Given the description of an element on the screen output the (x, y) to click on. 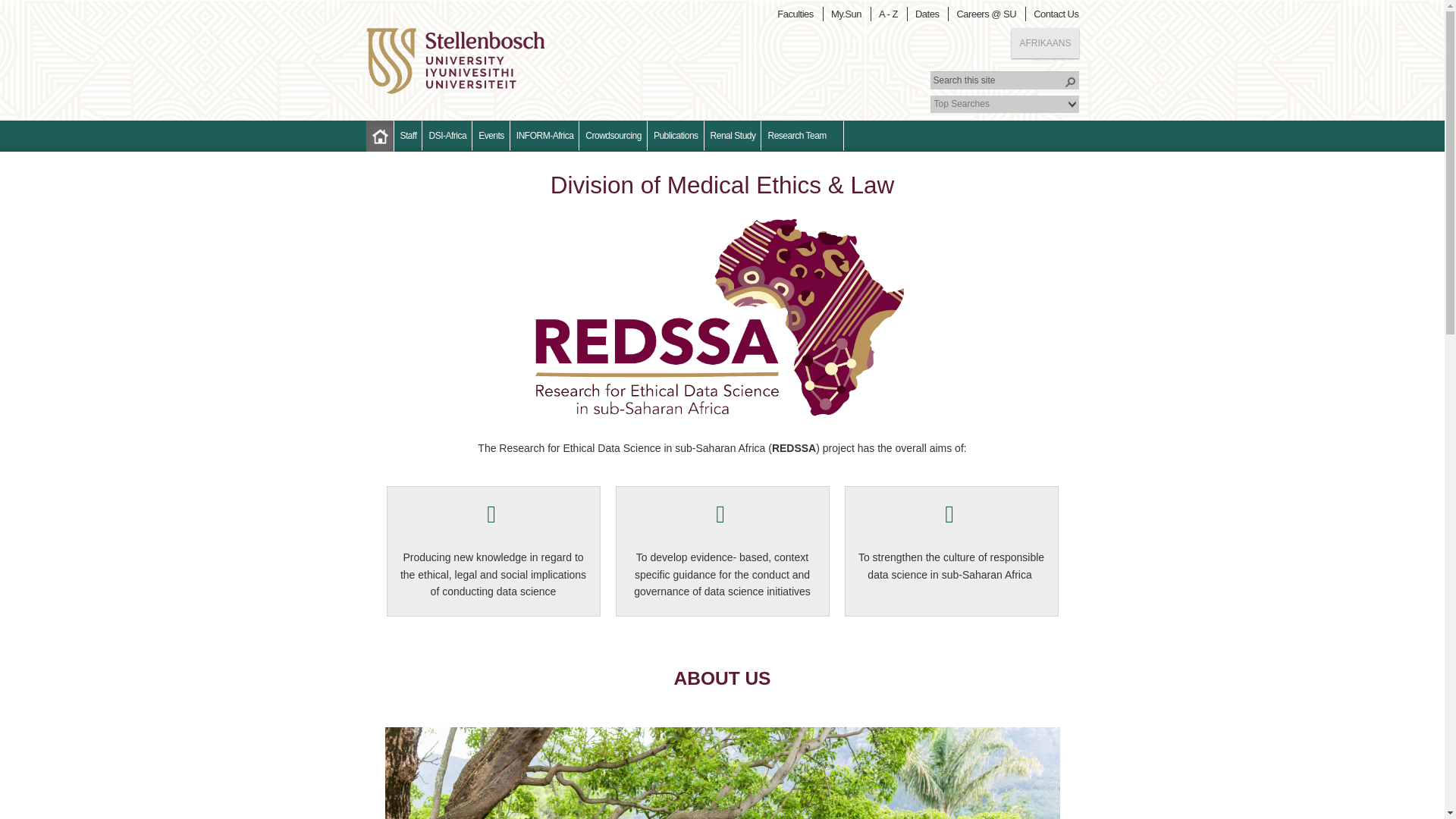
Search this site (1004, 80)
Contact Us (1058, 13)
AFRIKAANS (1044, 42)
Publications (675, 135)
My.Sun (848, 13)
Research Team (802, 135)
DSI-Africa (446, 135)
A - Z (891, 13)
Crowdsourcing (613, 135)
Dates (930, 13)
INFORM-Africa (545, 135)
Faculties (798, 13)
Search (1069, 81)
Renal Study (732, 135)
Staff (408, 135)
